Given the description of an element on the screen output the (x, y) to click on. 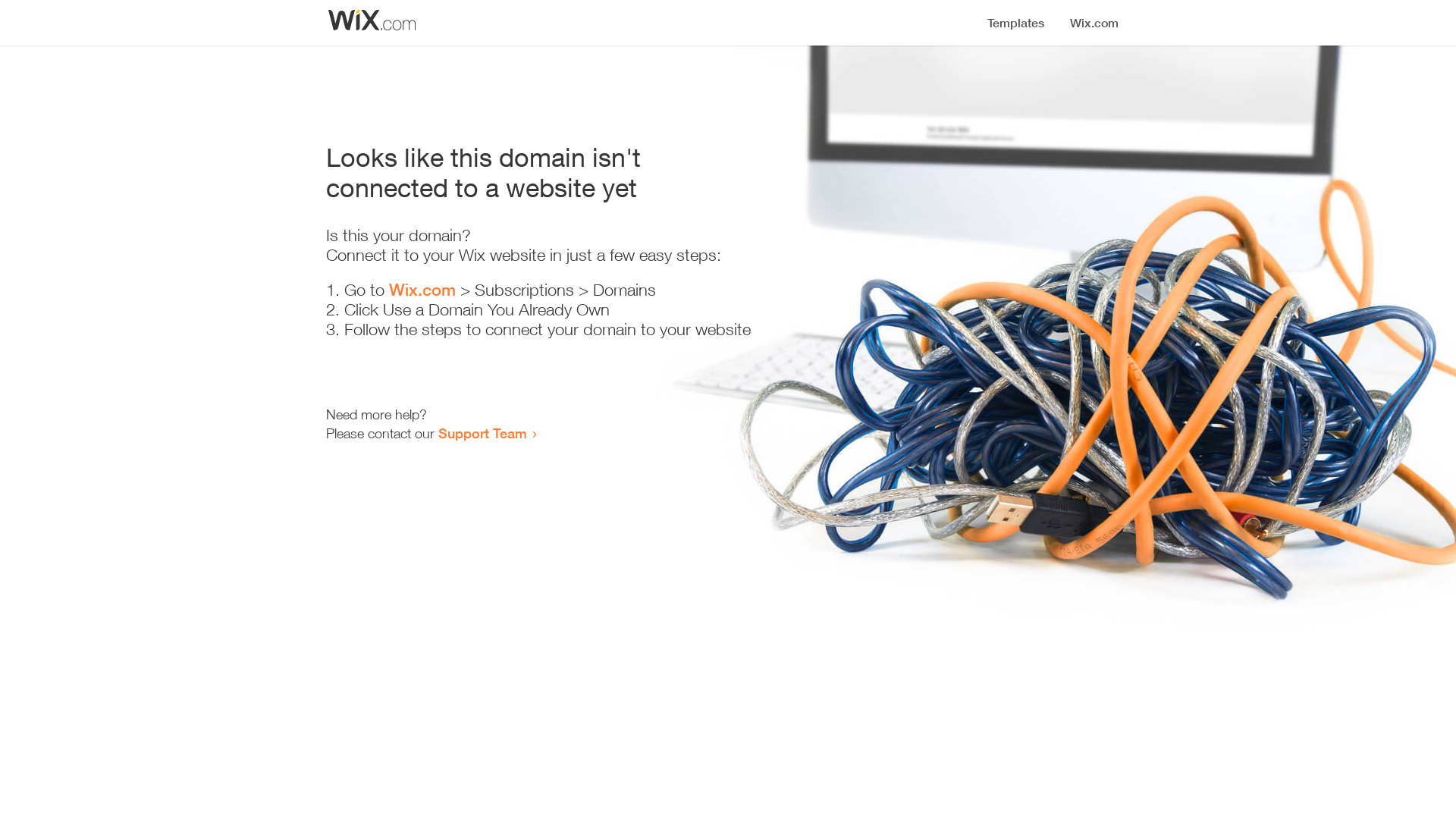
Support Team Element type: text (482, 432)
Wix.com Element type: text (422, 289)
